Given the description of an element on the screen output the (x, y) to click on. 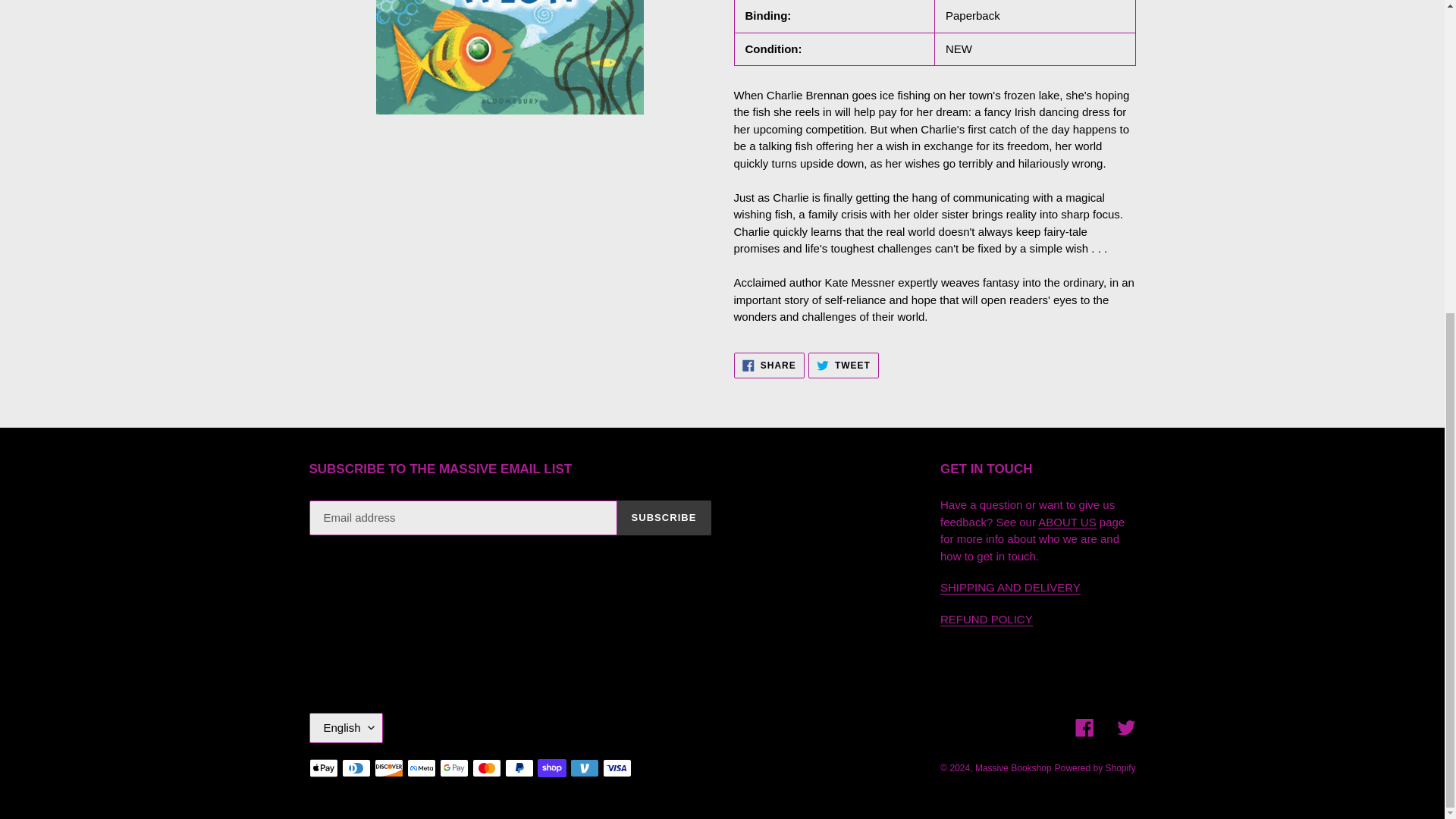
REFUND POLICY (986, 619)
Facebook (1084, 727)
SHIPPING AND DELIVERY (1010, 587)
SUBSCRIBE (664, 517)
Massive Bookshop (1013, 767)
Shipping Policy (1010, 587)
Twitter (769, 365)
Refund Policy (1125, 727)
